Given the description of an element on the screen output the (x, y) to click on. 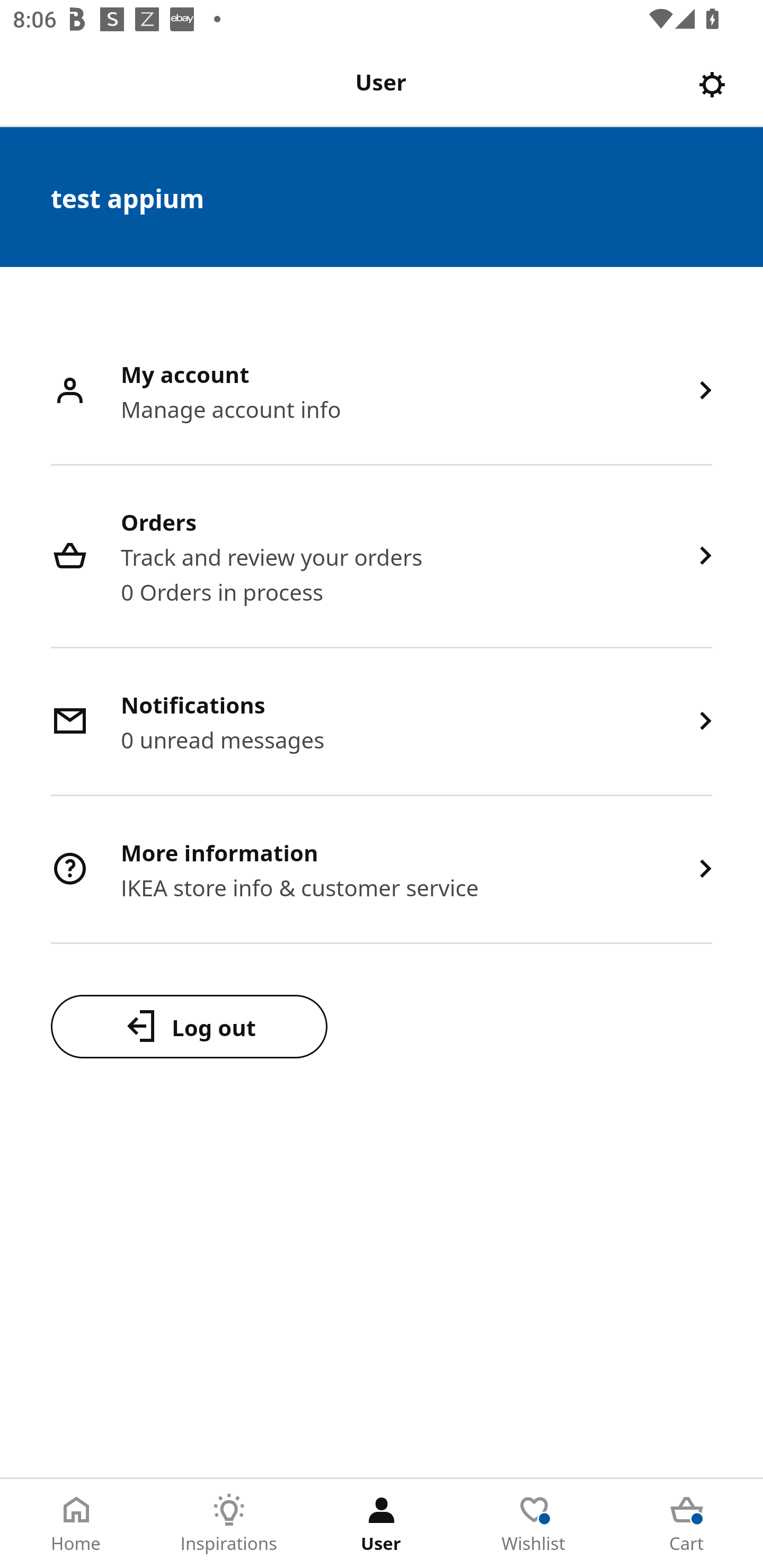
My account
Manage account info (381, 391)
Notifications
0 unread messages (381, 722)
Log out (189, 1026)
Home
Tab 1 of 5 (76, 1522)
Inspirations
Tab 2 of 5 (228, 1522)
User
Tab 3 of 5 (381, 1522)
Wishlist
Tab 4 of 5 (533, 1522)
Cart
Tab 5 of 5 (686, 1522)
